Given the description of an element on the screen output the (x, y) to click on. 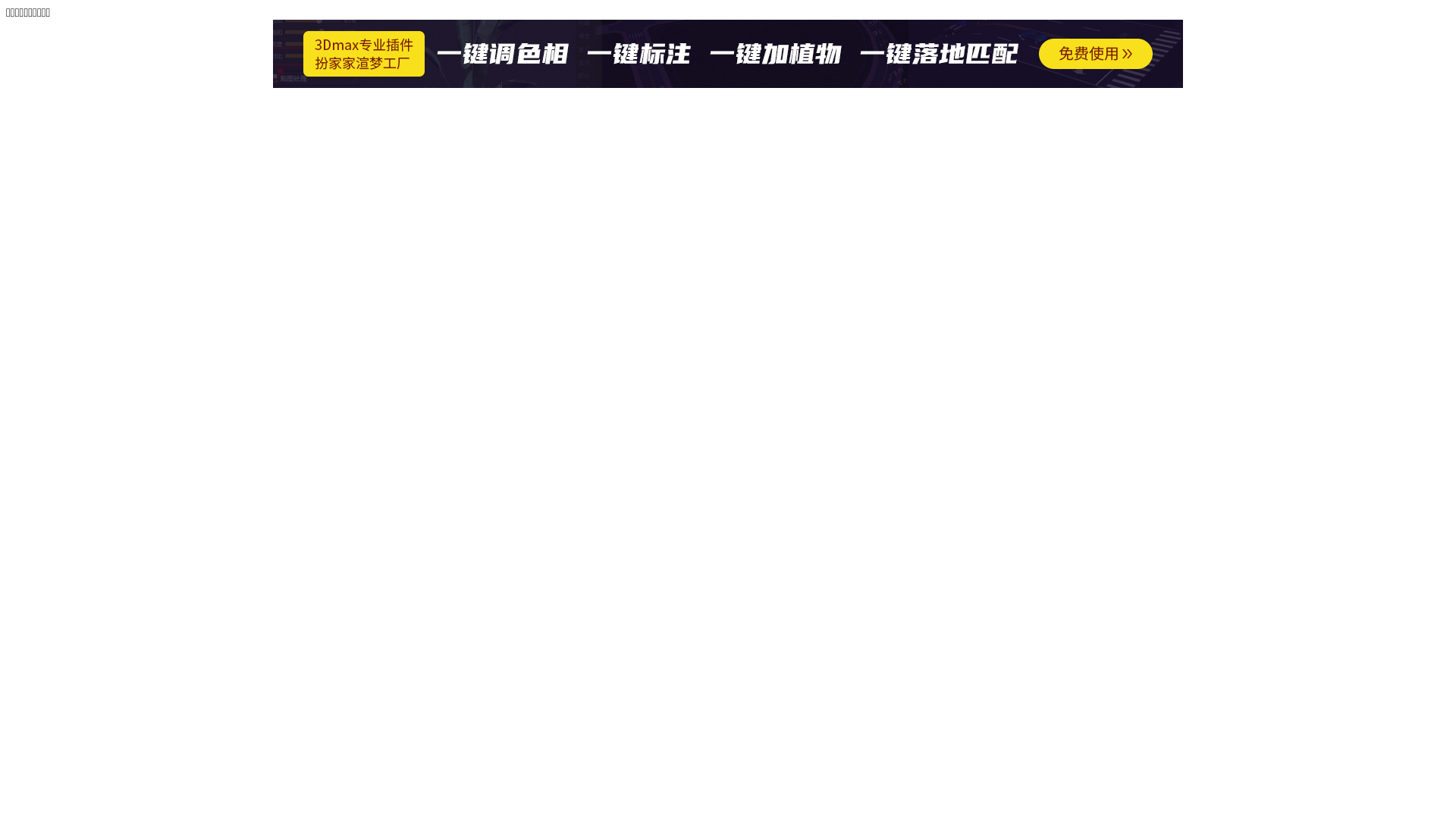
  Element type: hover (728, 83)
